Given the description of an element on the screen output the (x, y) to click on. 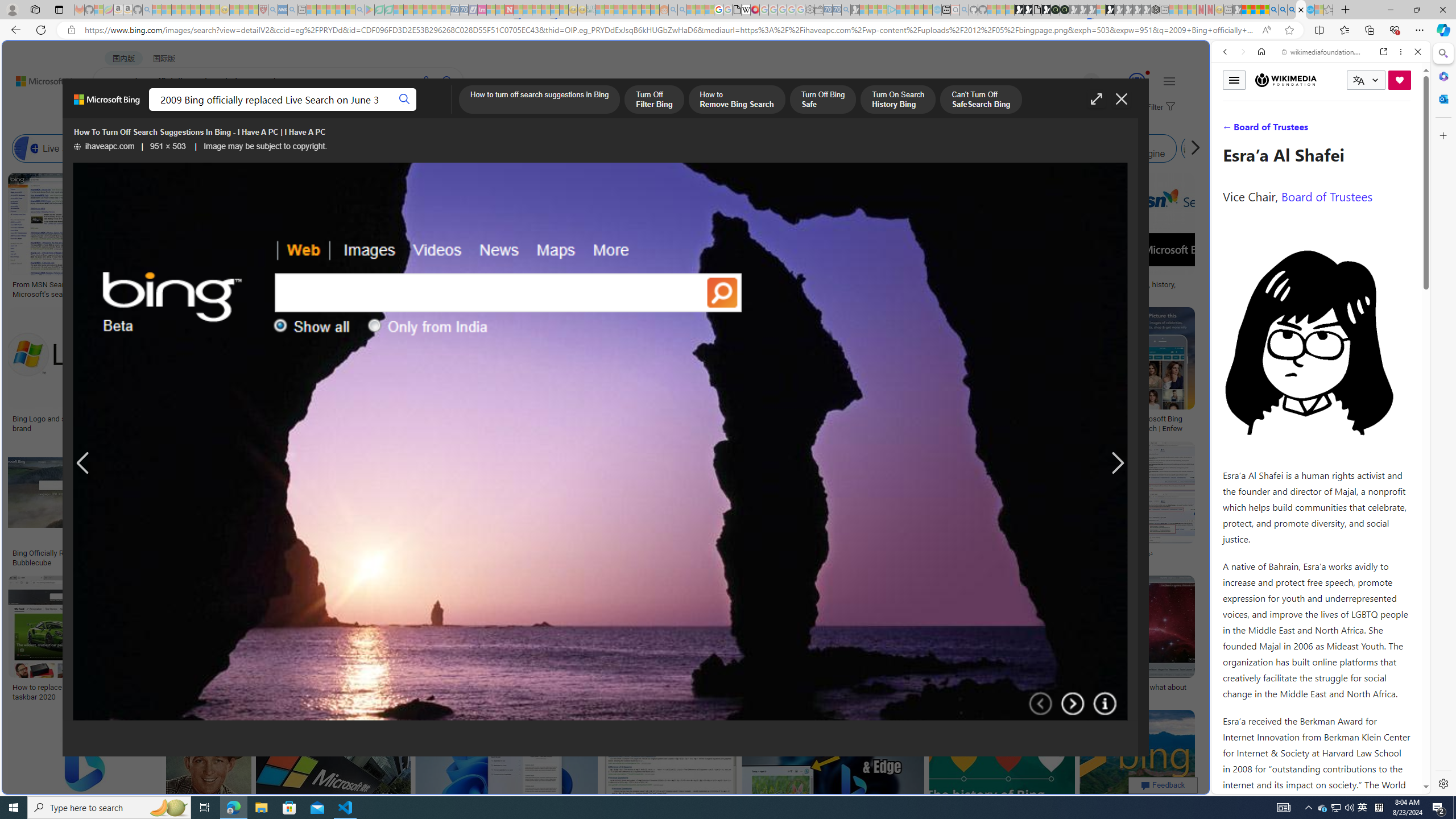
VIDEOS (1300, 130)
Services - Maintenance | Sky Blue Bikes - Sky Blue Bikes (1309, 9)
Bing Logo, symbol, meaning, history, PNG, brand (1124, 289)
Microsoft Bing, Back to Bing search (106, 104)
IMAGES (1262, 130)
World - MSN (727, 389)
CURRENT LANGUAGE: (1366, 80)
Microsoft Bing Search | Enfew (1162, 423)
ACADEMIC (360, 111)
